Given the description of an element on the screen output the (x, y) to click on. 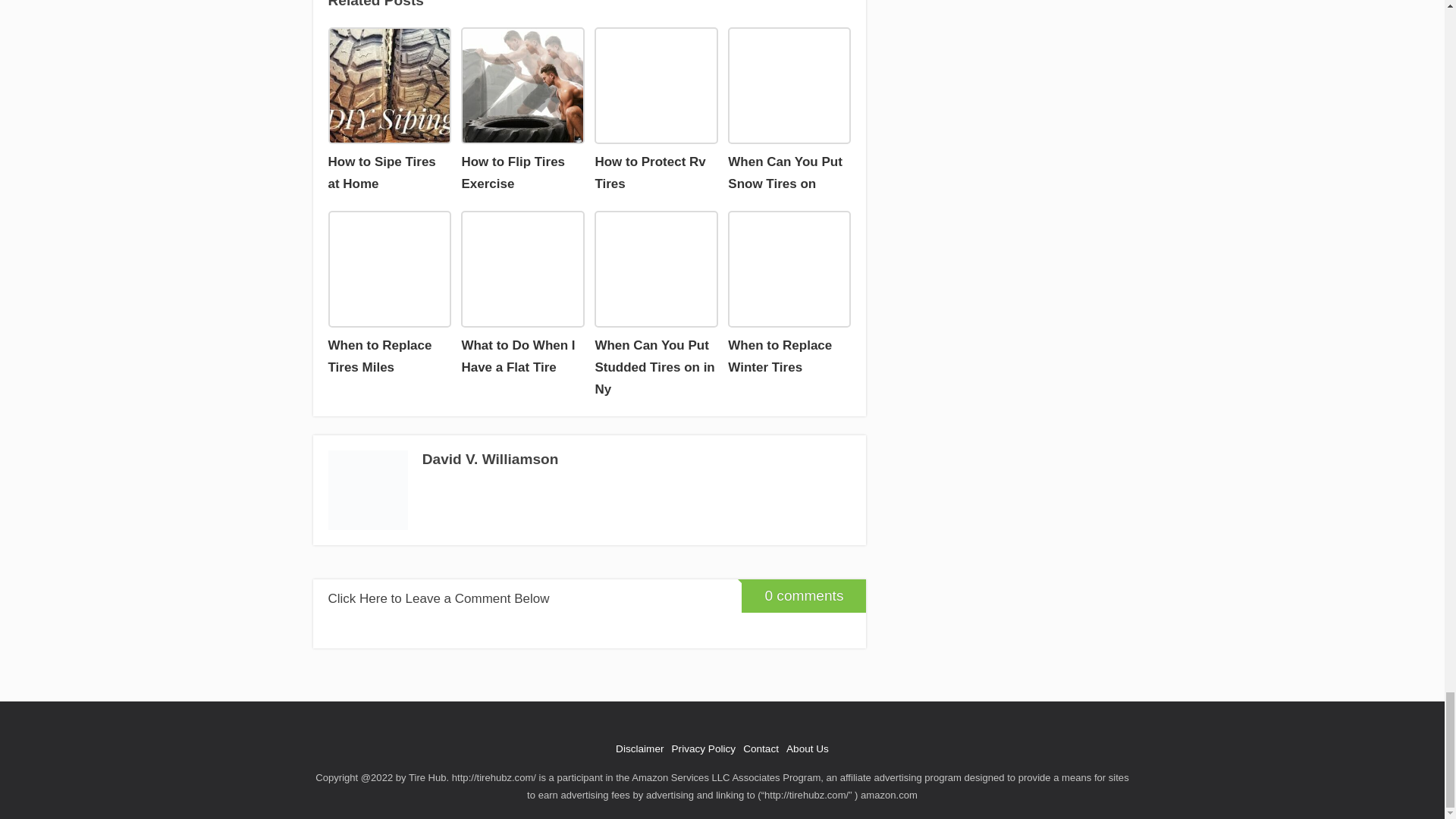
Contact (760, 748)
About Us (807, 748)
Disclaimer (639, 748)
Privacy Policy (703, 748)
